Given the description of an element on the screen output the (x, y) to click on. 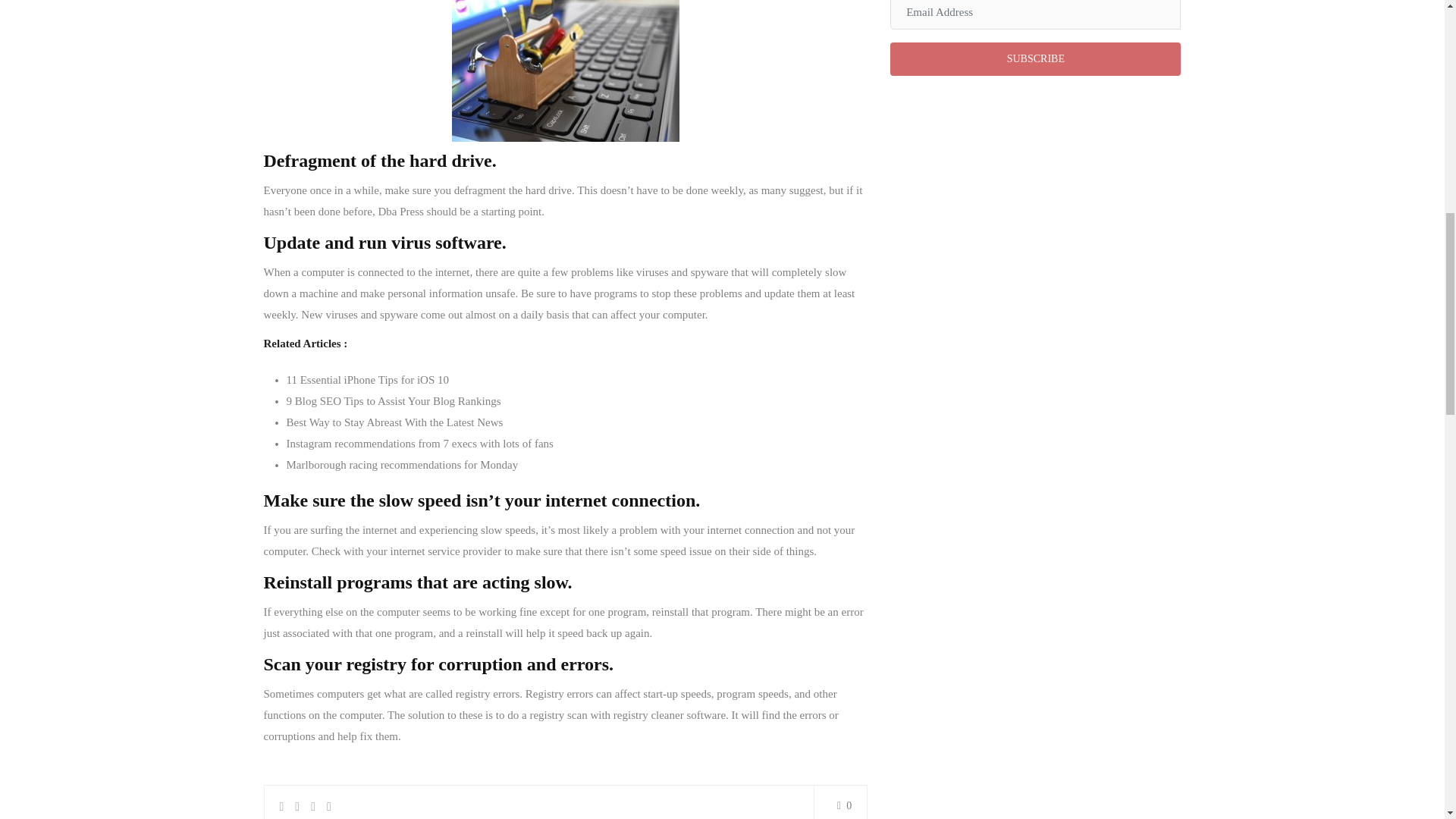
SUBSCRIBE (1034, 59)
